Given the description of an element on the screen output the (x, y) to click on. 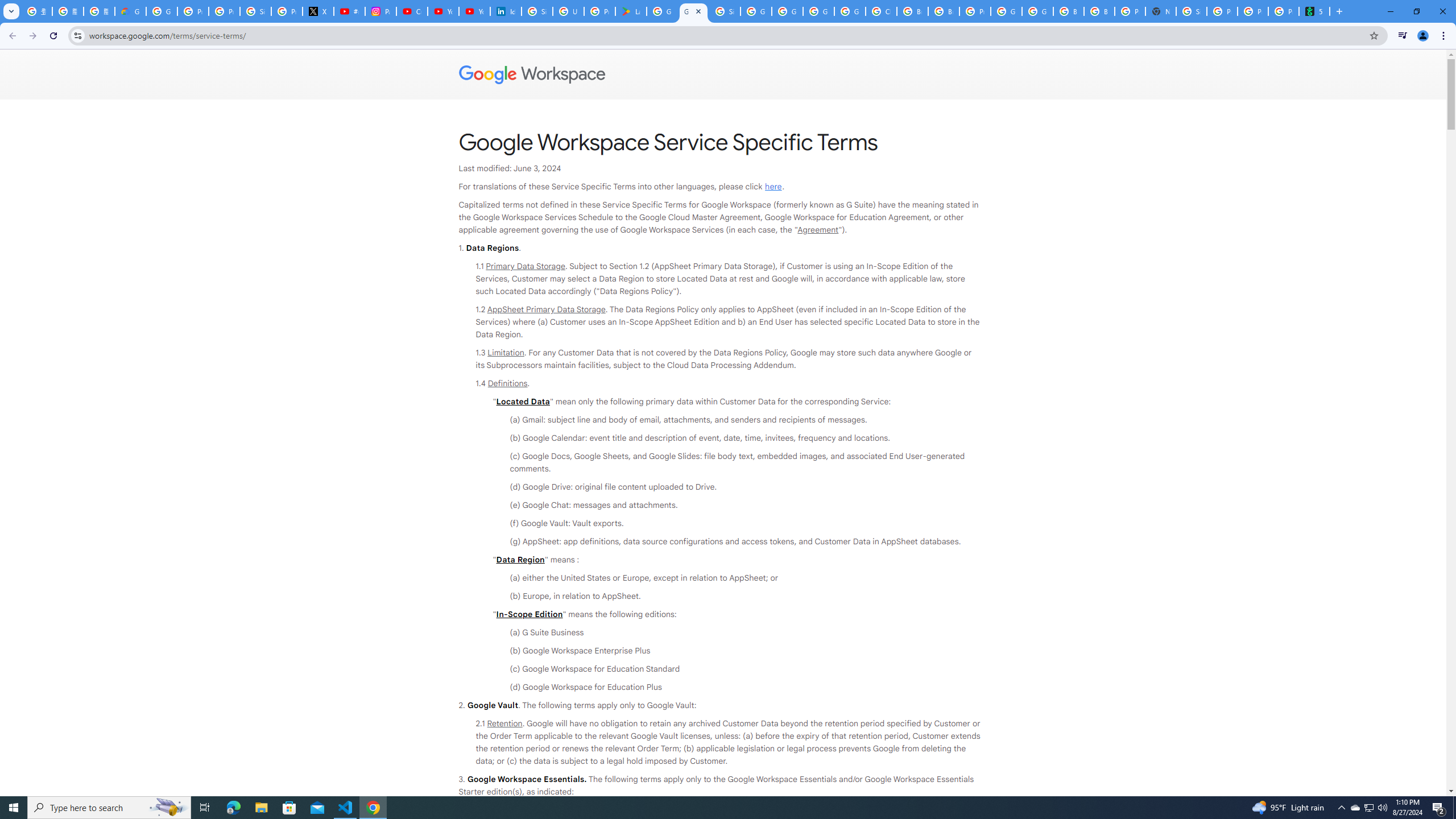
Google Workspace (723, 74)
Sign in - Google Accounts (724, 11)
Browse Chrome as a guest - Computer - Google Chrome Help (912, 11)
YouTube Culture & Trends - YouTube Top 10, 2021 (474, 11)
Google Cloud Platform (1005, 11)
here (772, 186)
